Given the description of an element on the screen output the (x, y) to click on. 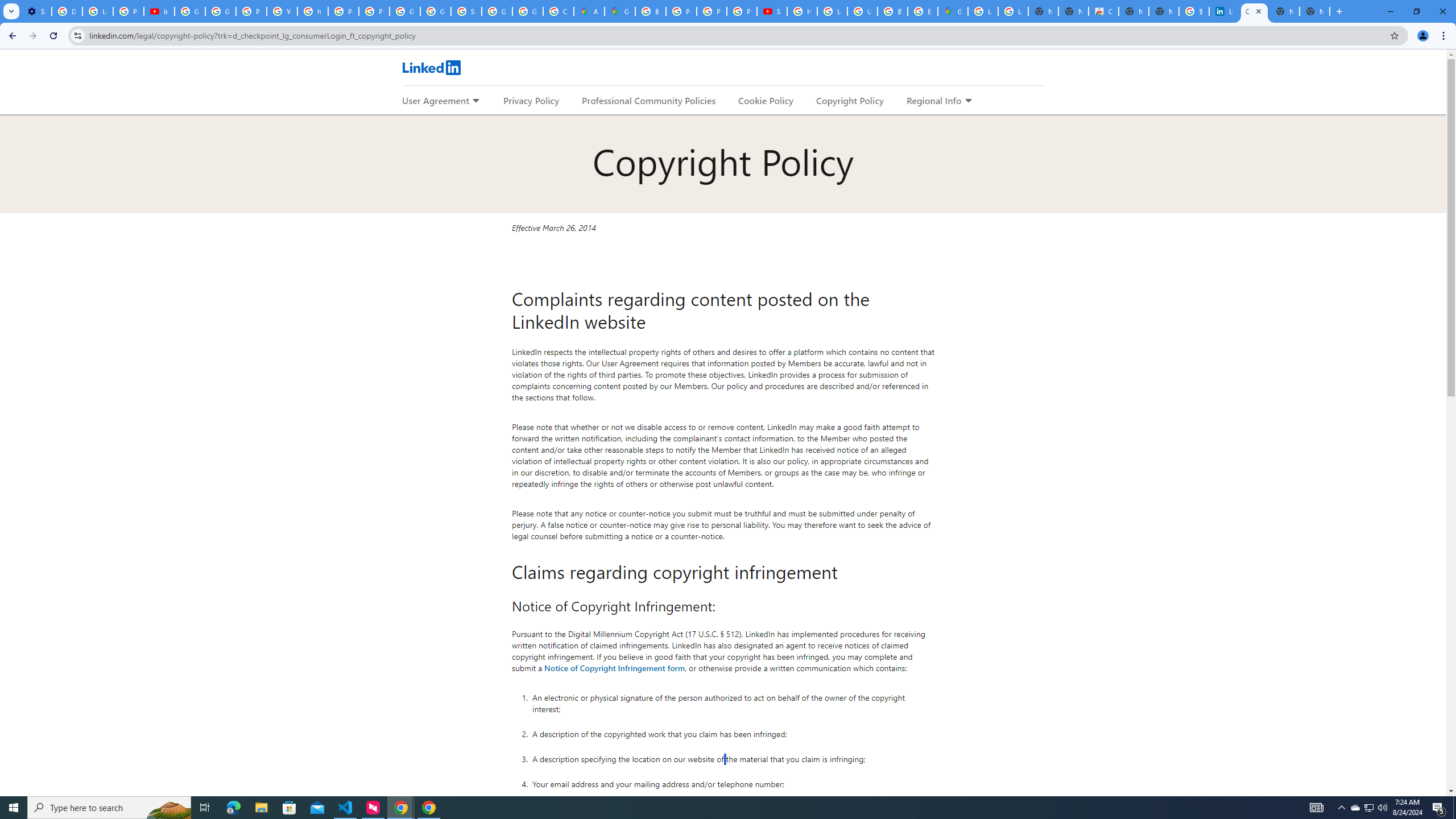
Subscriptions - YouTube (771, 11)
Google Maps (619, 11)
Notice of Copyright Infringement form (614, 667)
New Tab (1314, 11)
Introduction | Google Privacy Policy - YouTube (158, 11)
Privacy Help Center - Policies Help (681, 11)
Copyright Policy (1254, 11)
YouTube (282, 11)
Google Account Help (189, 11)
